Given the description of an element on the screen output the (x, y) to click on. 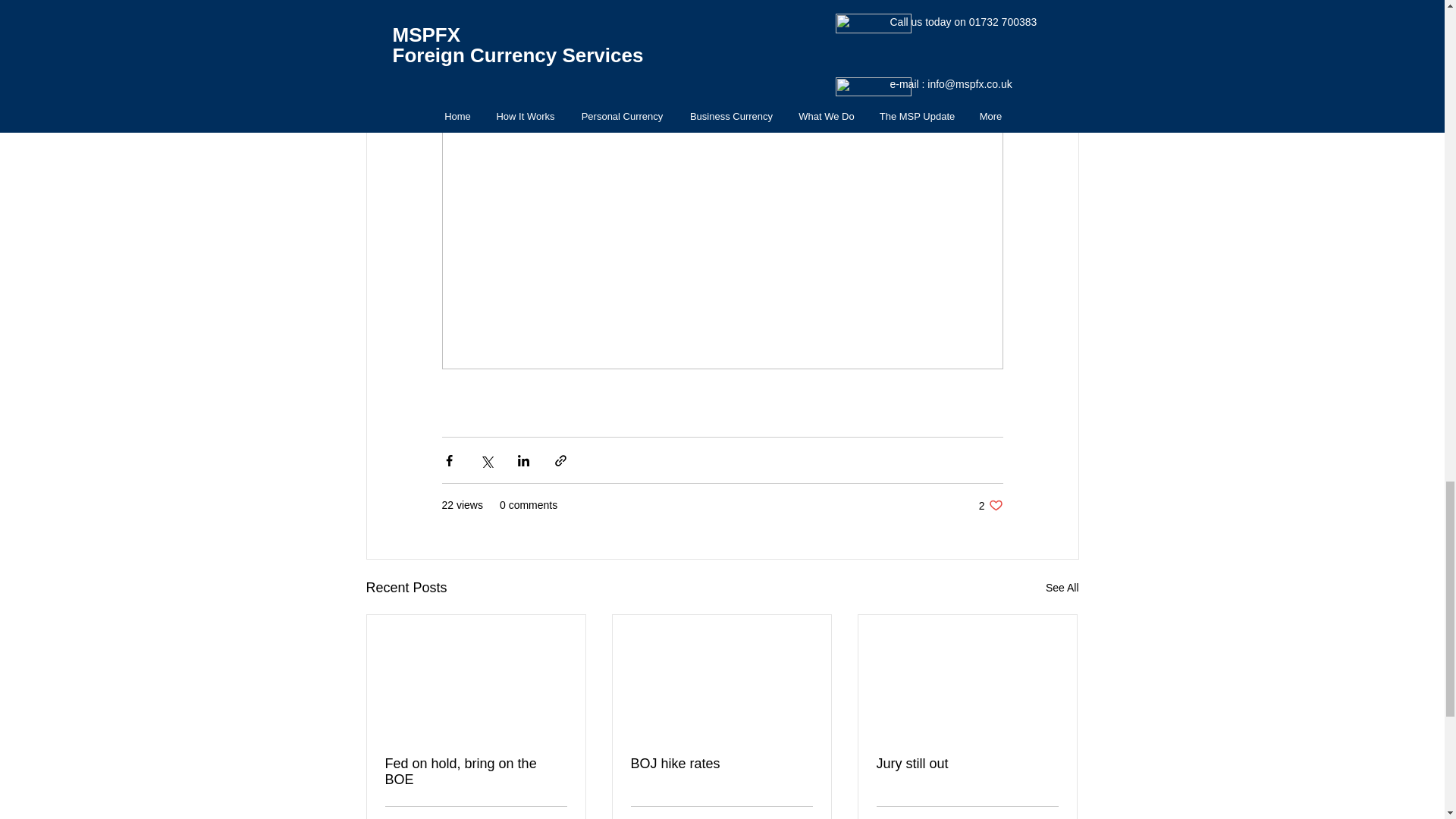
Post not marked as liked (990, 504)
Jury still out (721, 763)
Post not marked as liked (967, 763)
0 (476, 771)
